Given the description of an element on the screen output the (x, y) to click on. 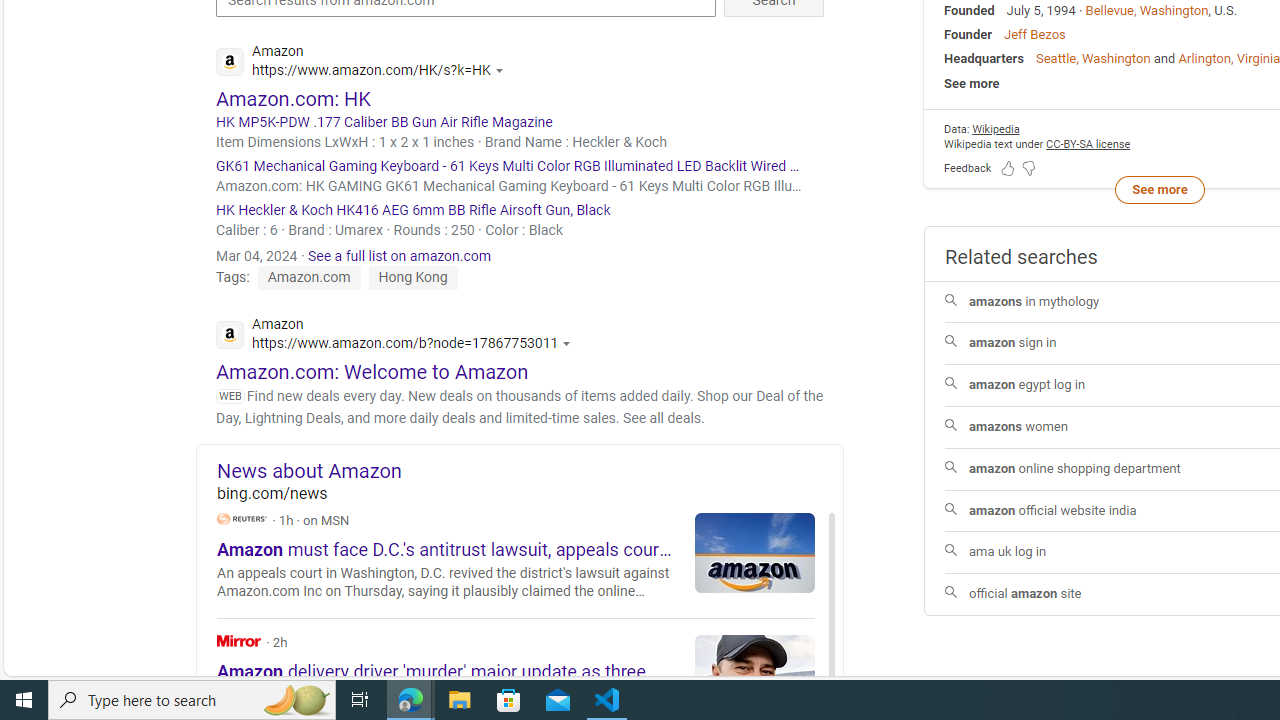
Headquarters (984, 58)
Amazon (399, 336)
Founder (968, 34)
Tags: Amazon.com Hong Kong (337, 277)
Seattle, Washington (1092, 58)
Amazon.com: HK (293, 97)
Founded (969, 10)
Reuters on MSN.com (242, 517)
CC-BY-SA license (1088, 144)
HK Heckler & Koch HK416 AEG 6mm BB Rifle Airsoft Gun, Black (520, 210)
The Mirror (239, 640)
